Given the description of an element on the screen output the (x, y) to click on. 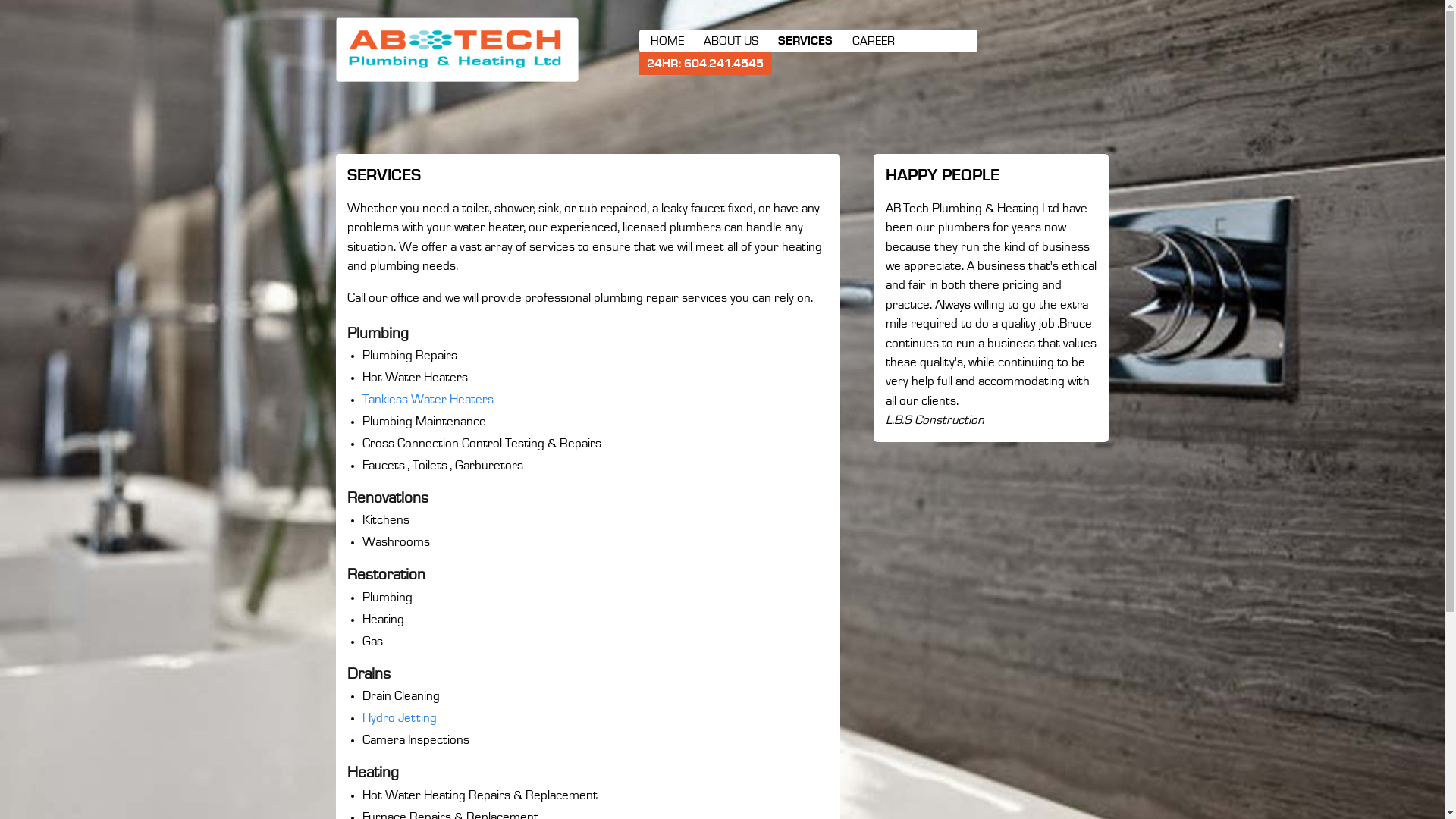
Tankless Water Heaters Element type: text (427, 399)
Hydro Jetting Element type: text (399, 718)
CAREER Element type: text (873, 40)
ABOUT US Element type: text (730, 40)
SERVICES Element type: text (804, 40)
AB-Tech Plumbing & Heating Element type: hover (456, 49)
HOME Element type: text (667, 40)
CONTACT Element type: text (672, 62)
